Given the description of an element on the screen output the (x, y) to click on. 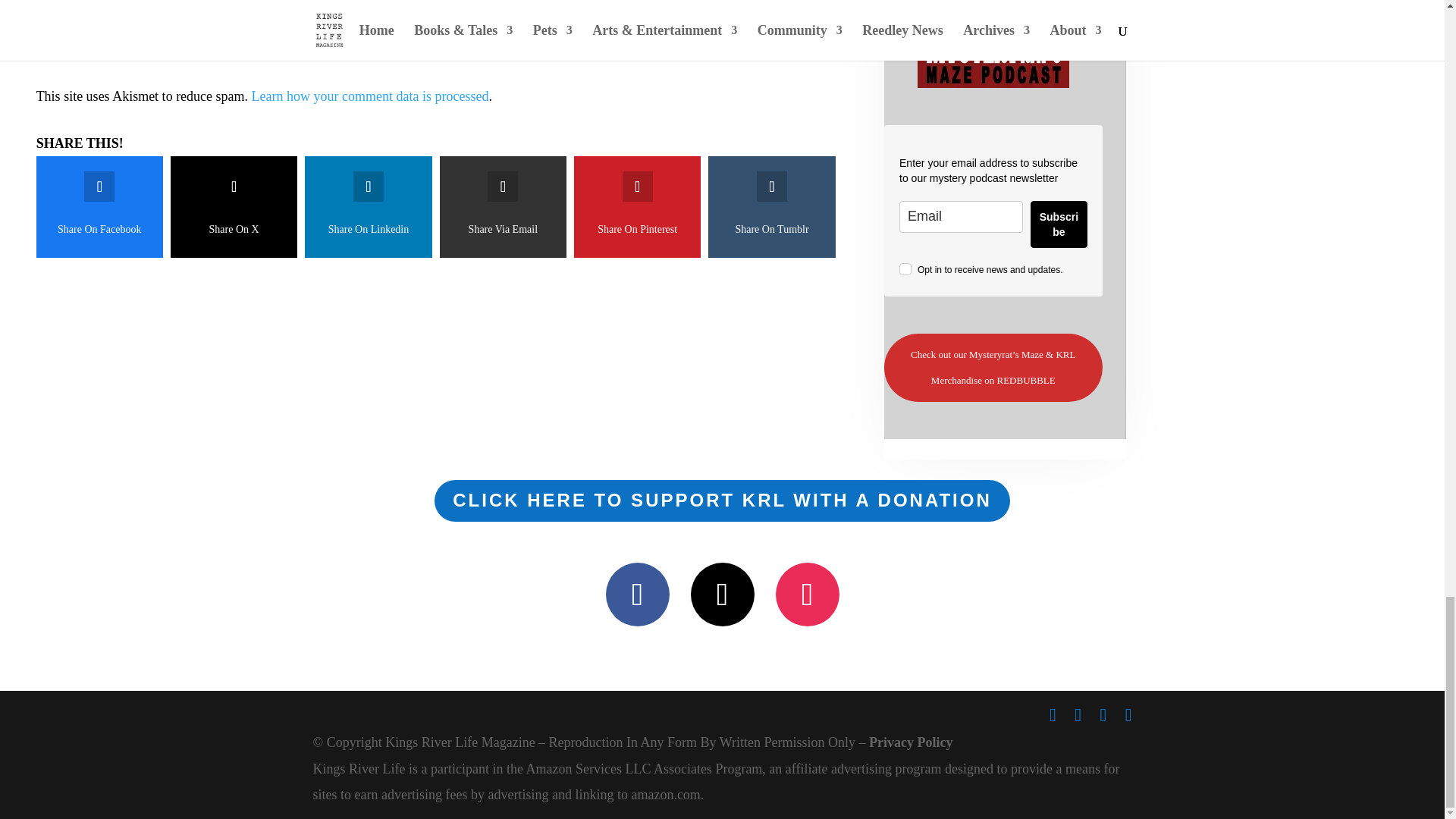
Subscribe now! (992, 43)
Follow on Instagram (806, 594)
Follow on Facebook (636, 594)
Follow on X (722, 594)
Comment Form (439, 18)
